Given the description of an element on the screen output the (x, y) to click on. 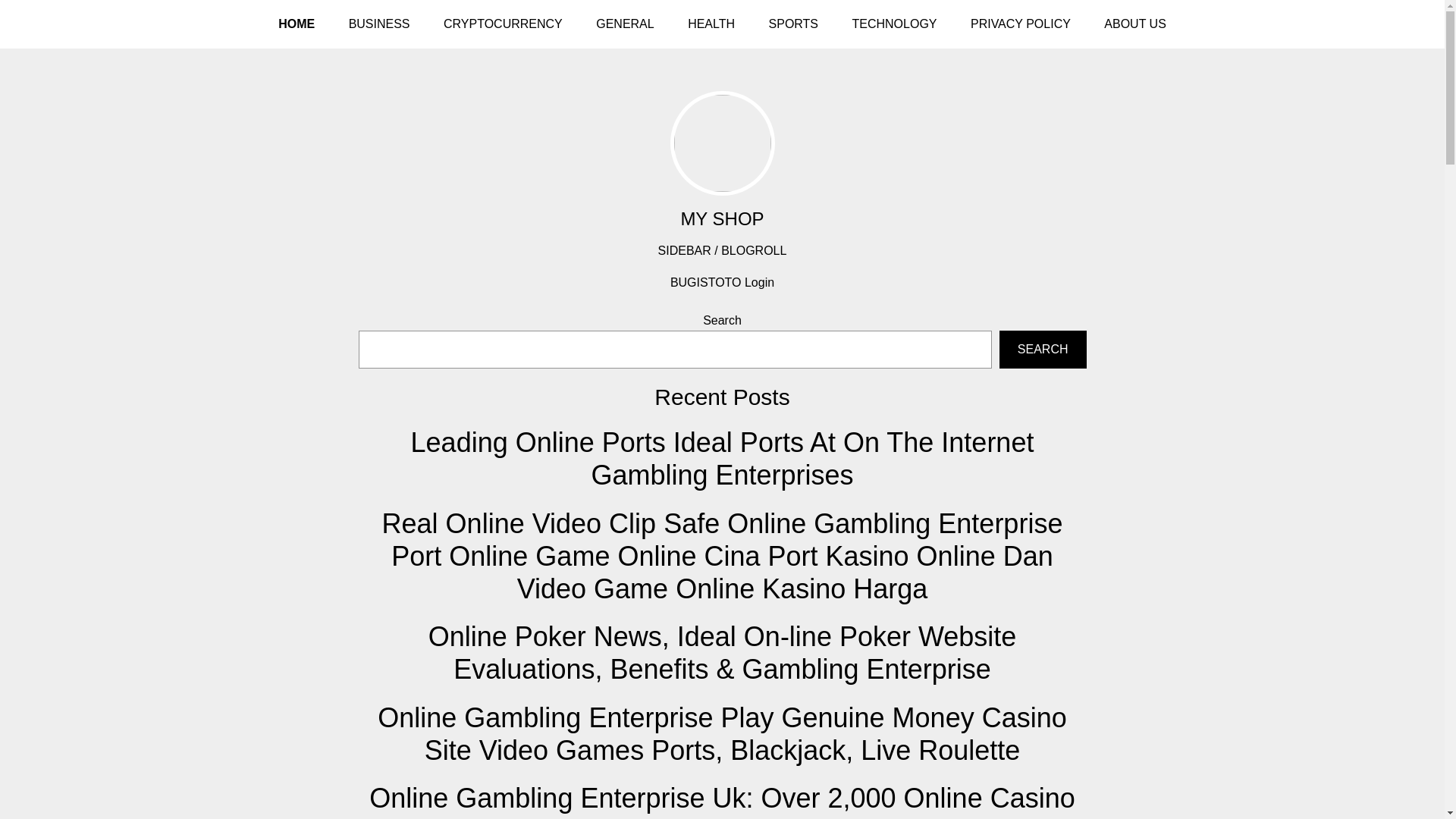
HEALTH (710, 24)
CRYPTOCURRENCY (503, 24)
HOME (296, 24)
BUGISTOTO Login (721, 282)
ABOUT US (1134, 24)
PRIVACY POLICY (1020, 24)
SPORTS (794, 24)
BUSINESS (379, 24)
TECHNOLOGY (893, 24)
GENERAL (624, 24)
SEARCH (1042, 349)
